Given the description of an element on the screen output the (x, y) to click on. 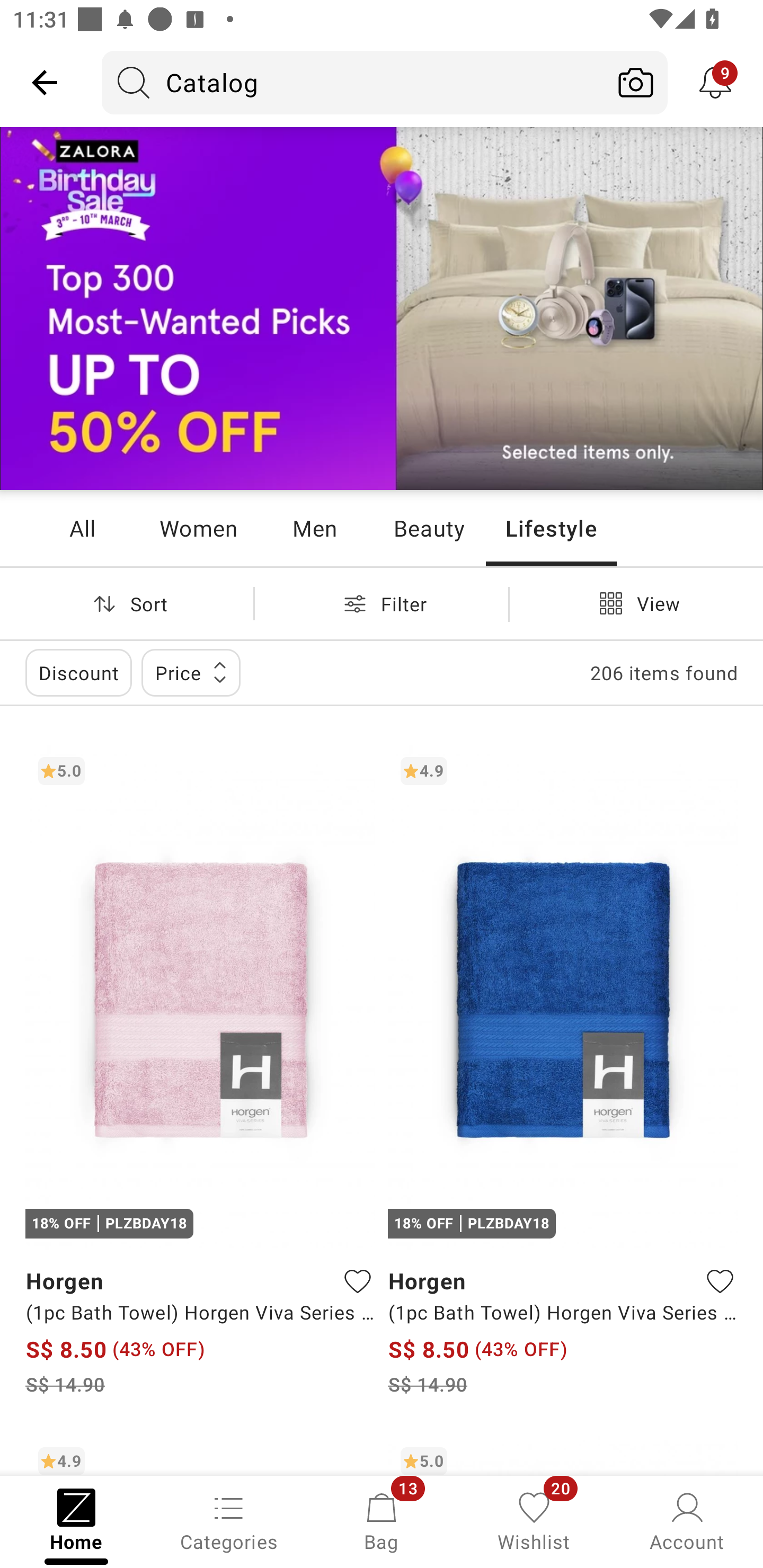
Navigate up (44, 82)
Catalog (352, 82)
All (82, 527)
Women (198, 527)
Men (314, 527)
Beauty (428, 527)
Sort (126, 603)
Filter (381, 603)
View (636, 603)
Discount (78, 672)
Price (190, 672)
Categories (228, 1519)
Bag, 13 new notifications Bag (381, 1519)
Wishlist, 20 new notifications Wishlist (533, 1519)
Account (686, 1519)
